Given the description of an element on the screen output the (x, y) to click on. 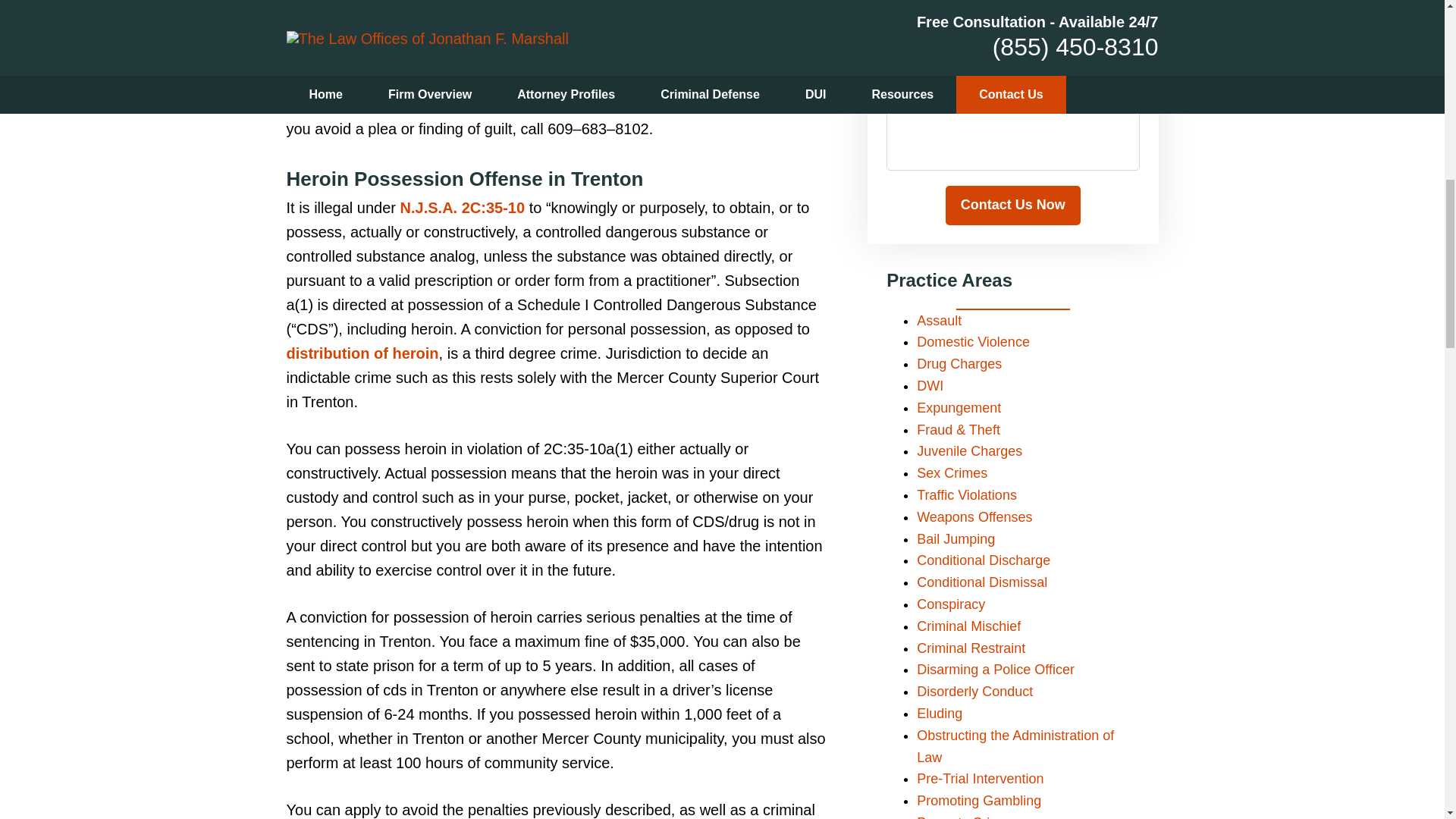
distribution of heroin (362, 352)
Contact Us Now (1012, 205)
Juvenile Charges (969, 450)
Domestic Violence (973, 341)
Drug Charges (959, 363)
Assault (938, 320)
Expungement (959, 407)
N.J.S.A. 2C:35-10 (462, 207)
Sex Crimes (952, 473)
Weapons Offenses (974, 516)
DWI (930, 385)
Traffic Violations (966, 494)
